Given the description of an element on the screen output the (x, y) to click on. 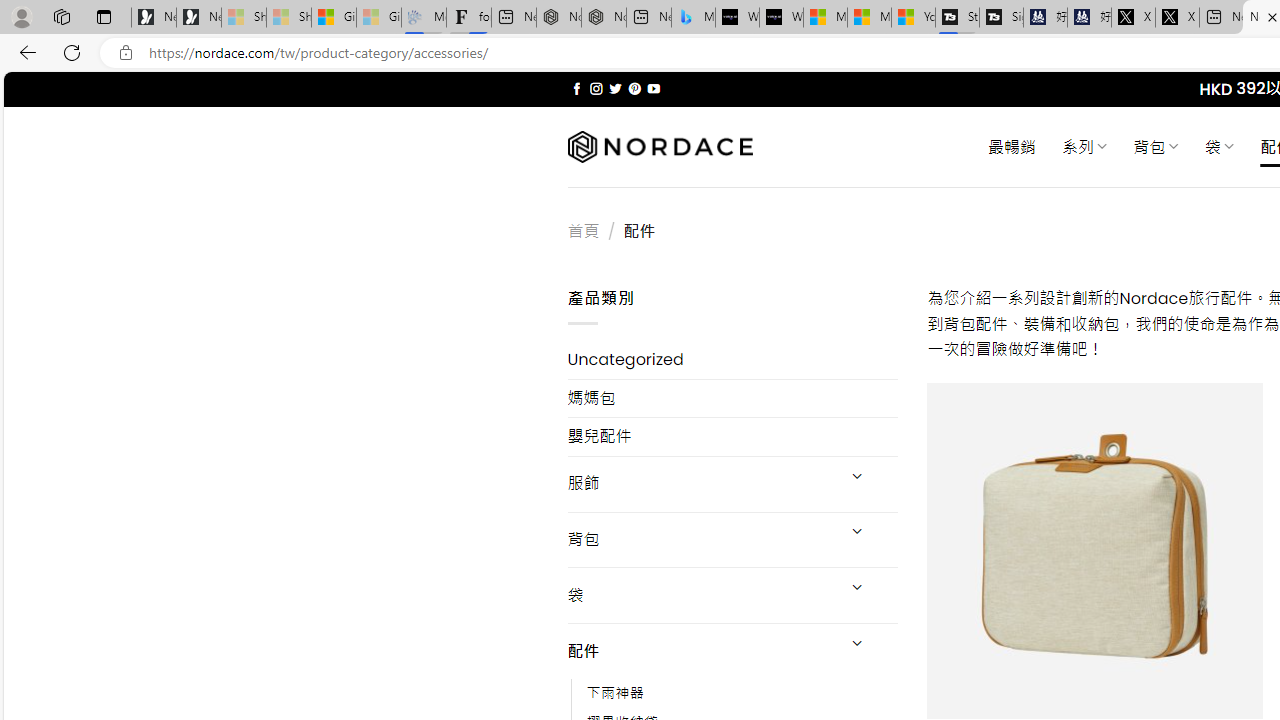
Uncategorized (732, 359)
